Given the description of an element on the screen output the (x, y) to click on. 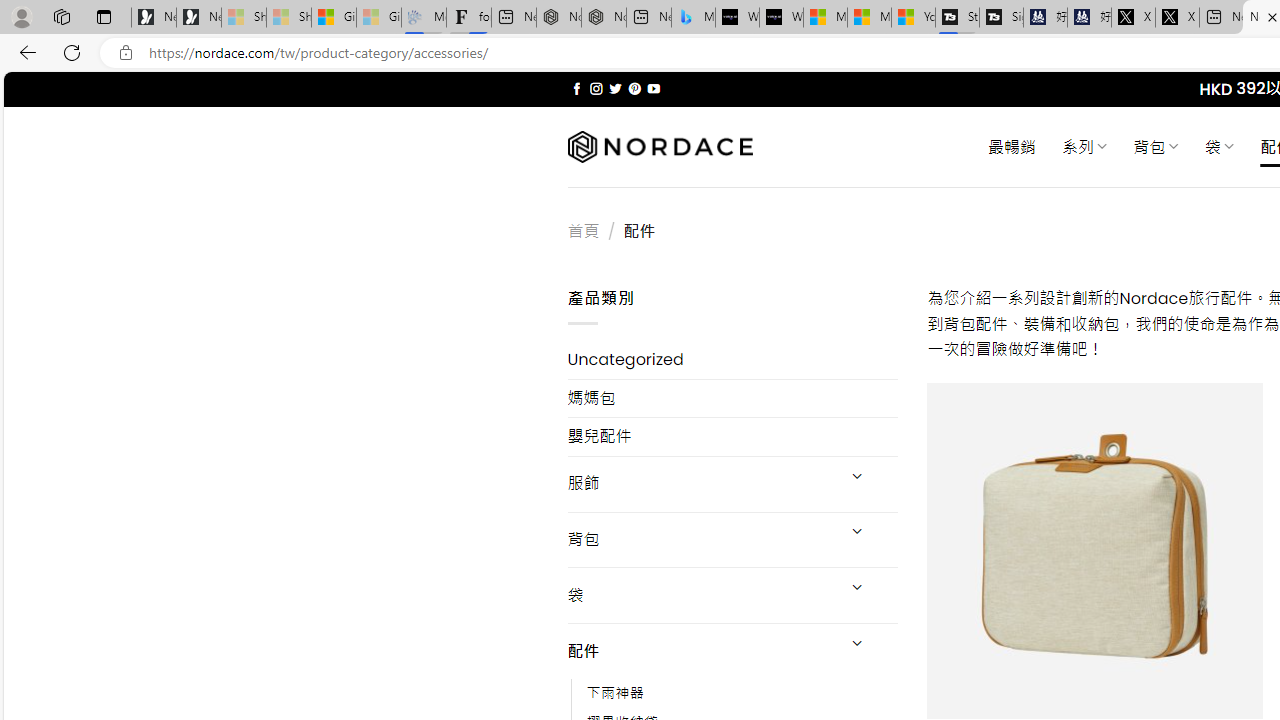
Uncategorized (732, 359)
